Given the description of an element on the screen output the (x, y) to click on. 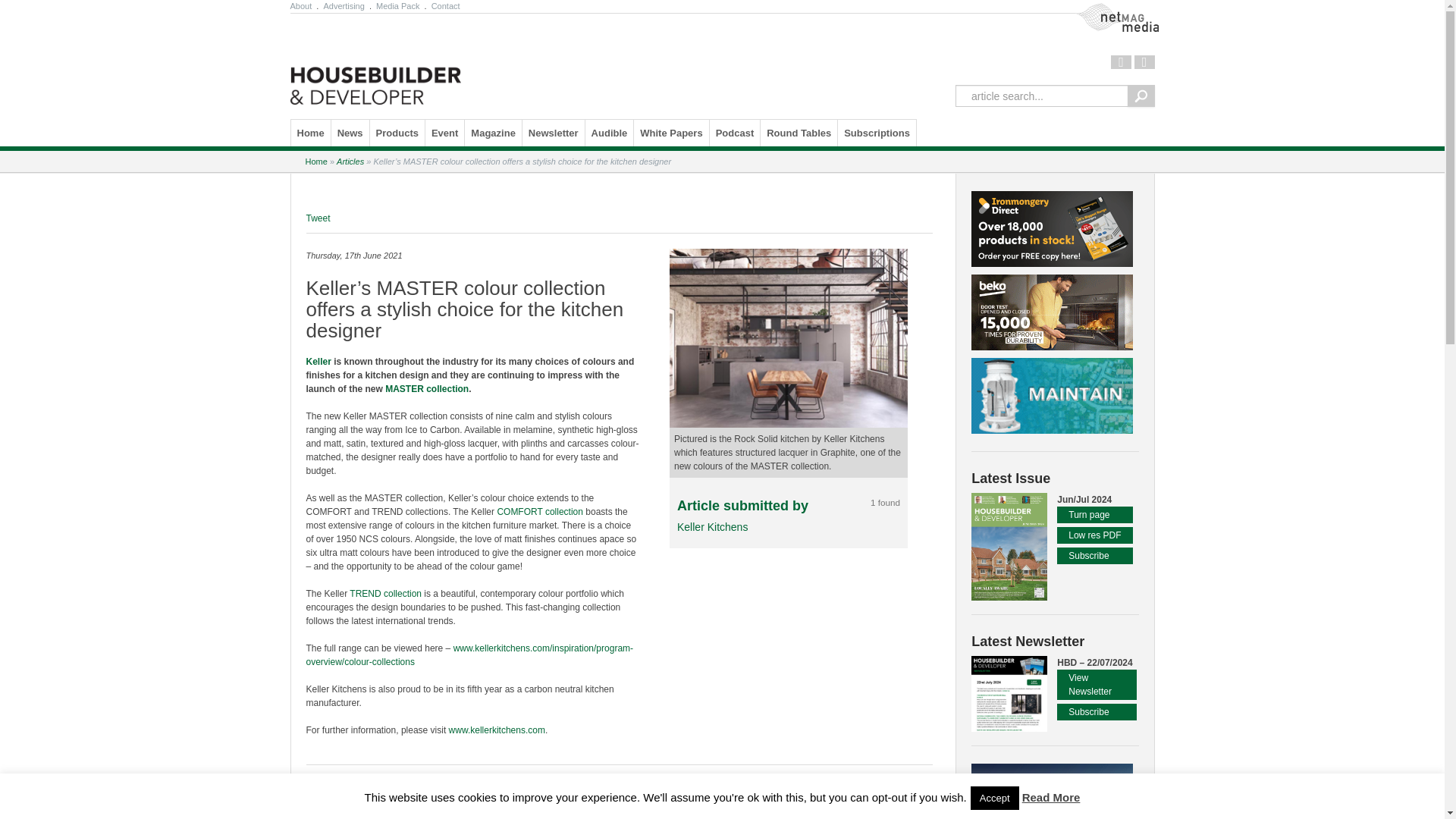
Skip to content (330, 131)
Magazine (492, 132)
Round Tables (798, 132)
Podcast (735, 132)
NetMag Media (1120, 17)
Skip to content (330, 131)
Event (444, 132)
Products (397, 132)
White Papers (670, 132)
Media Pack (398, 6)
Subscriptions (876, 132)
Search (1140, 96)
Newsletter (553, 132)
Advertising (343, 6)
